Given the description of an element on the screen output the (x, y) to click on. 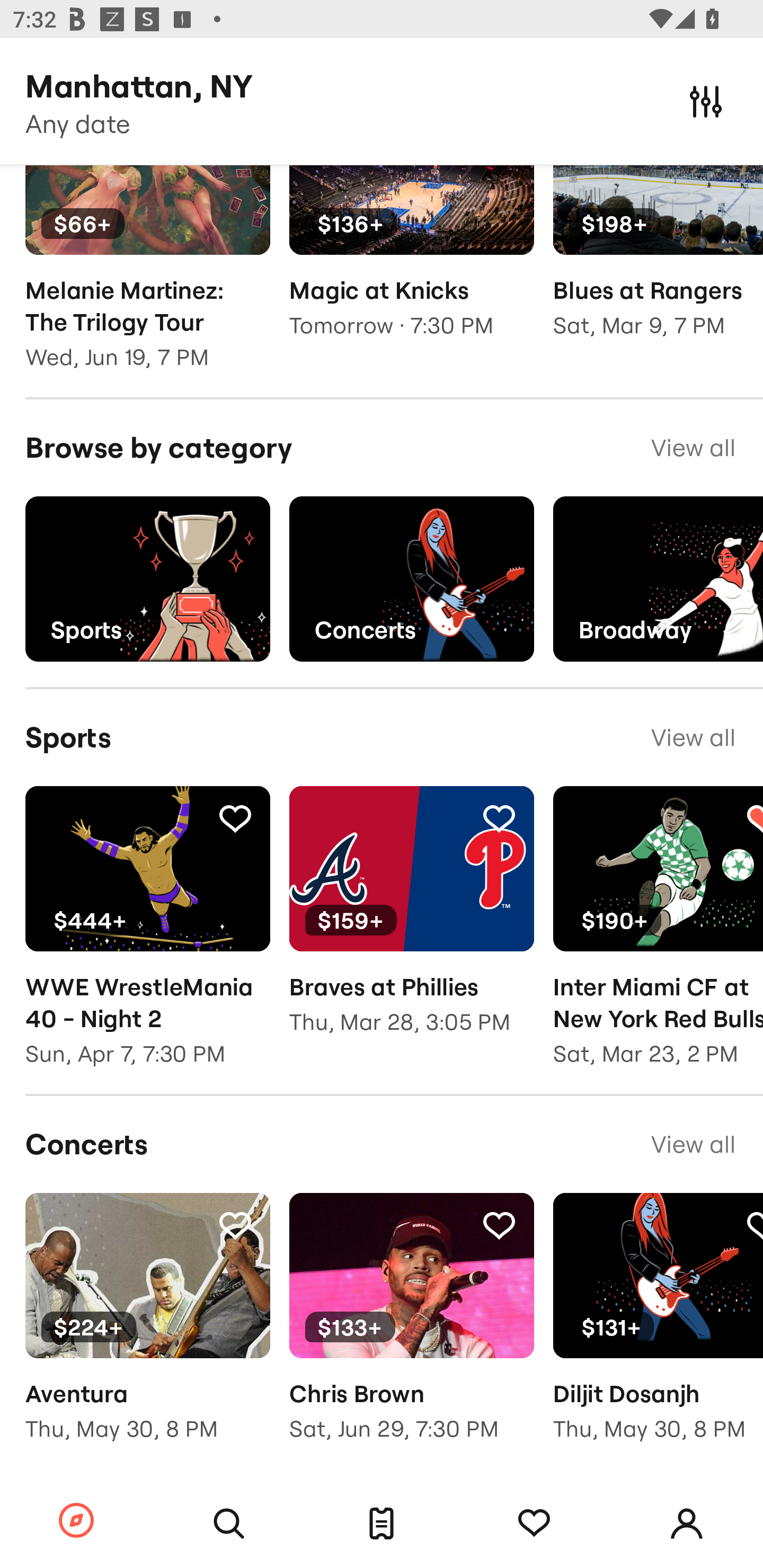
Close (705, 100)
$136+ Magic at Knicks Tomorrow · 7:30 PM (411, 263)
$198+ Blues at Rangers Sat, Mar 9, 7 PM (658, 263)
View all (693, 448)
Sports (147, 579)
Concerts (411, 579)
Broadway (658, 579)
View all (693, 737)
Tracking (234, 817)
Tracking (498, 817)
View all (693, 1144)
Tracking $224+ Aventura Thu, May 30, 8 PM (147, 1330)
Tracking $133+ Chris Brown Sat, Jun 29, 7:30 PM (411, 1330)
Tracking $131+ Diljit Dosanjh Thu, May 30, 8 PM (658, 1330)
Tracking (234, 1224)
Tracking (498, 1224)
Browse (76, 1521)
Search (228, 1523)
Tickets (381, 1523)
Tracking (533, 1523)
Account (686, 1523)
